Given the description of an element on the screen output the (x, y) to click on. 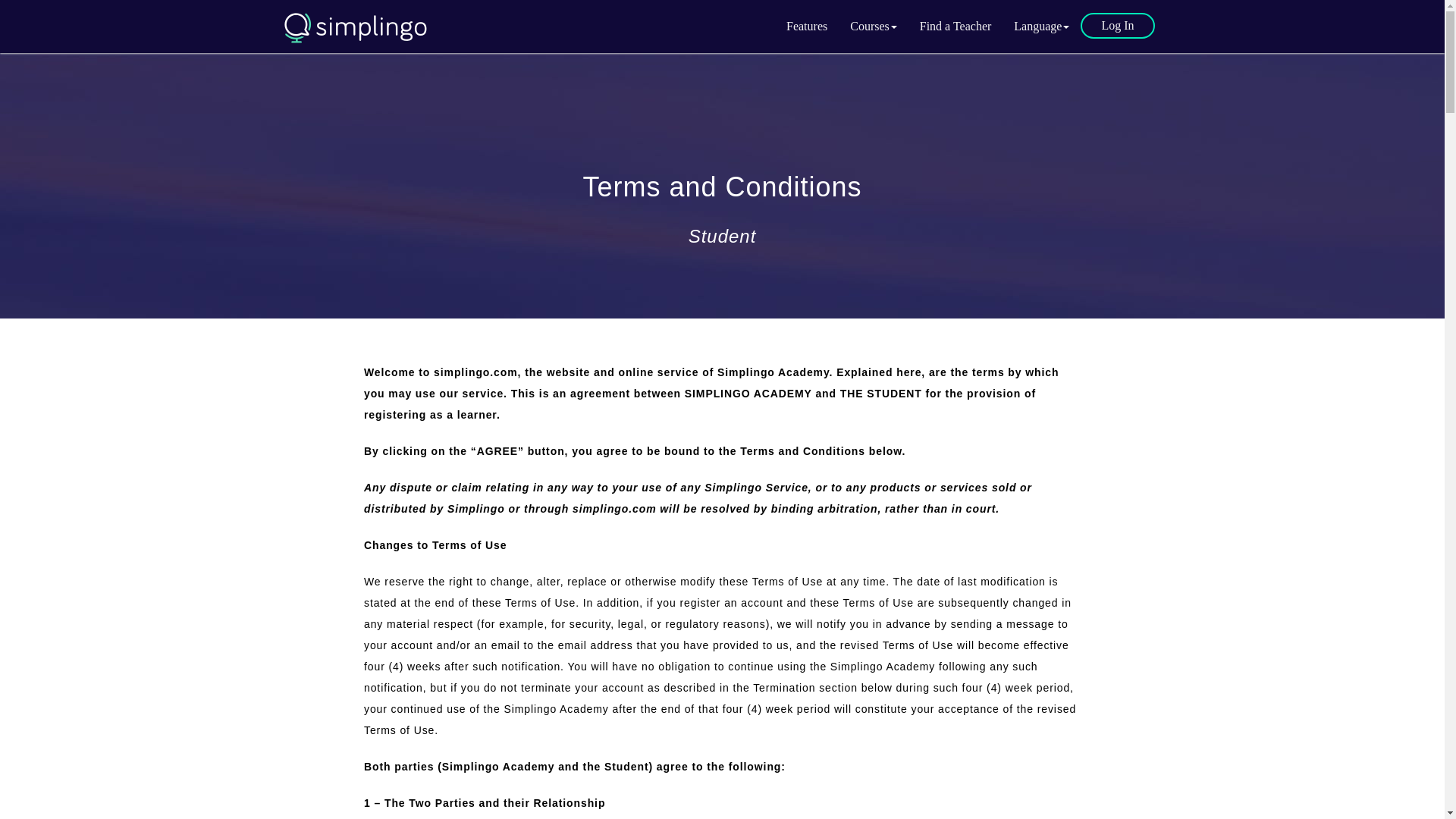
Courses (873, 26)
Log In (1117, 25)
Find a Teacher (955, 26)
Features (806, 26)
Language (1041, 26)
